Given the description of an element on the screen output the (x, y) to click on. 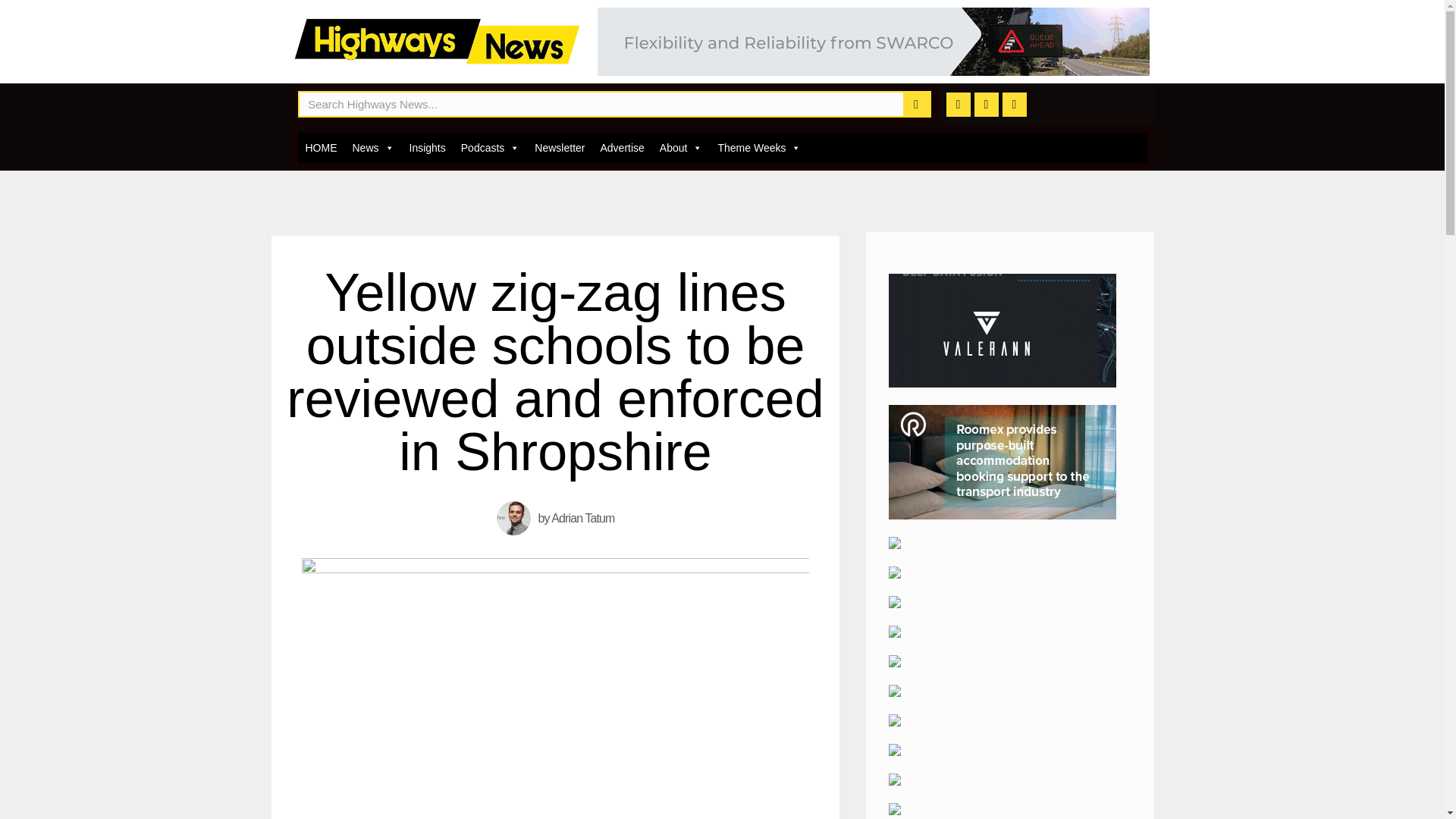
Podcasts (489, 147)
HOME (320, 147)
Theme Weeks (759, 147)
by Adrian Tatum (555, 518)
Advertise (622, 147)
Insights (426, 147)
About (681, 147)
Newsletter (559, 147)
News (372, 147)
